Given the description of an element on the screen output the (x, y) to click on. 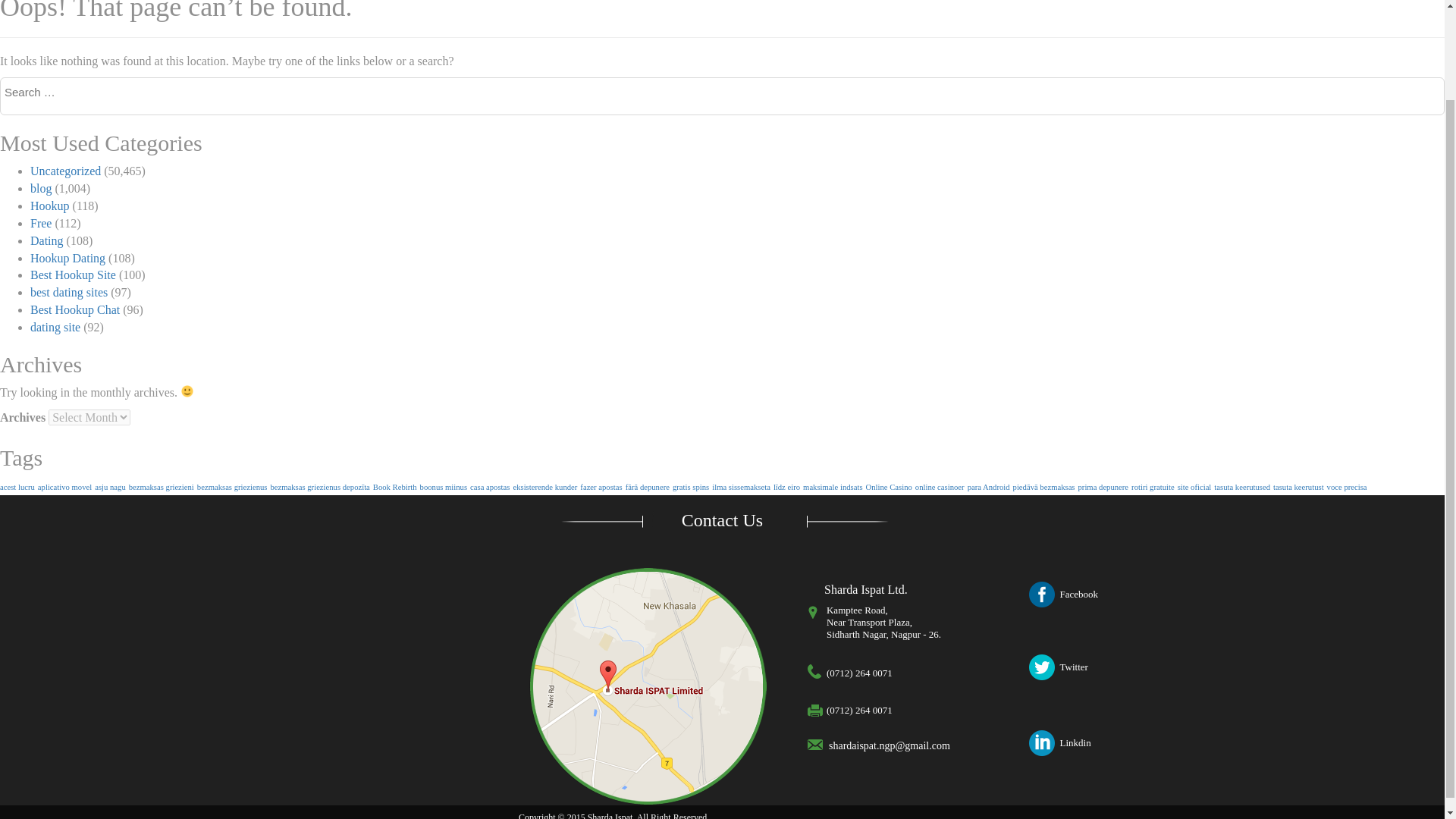
eksisterende kunder (544, 487)
asju nagu (109, 487)
Uncategorized (65, 170)
Best Hookup Chat (74, 309)
Best Hookup Site (73, 274)
fazer apostas (600, 487)
bezmaksas griezieni (161, 487)
aplicativo movel (64, 487)
1 topic (17, 487)
casa apostas (489, 487)
